Given the description of an element on the screen output the (x, y) to click on. 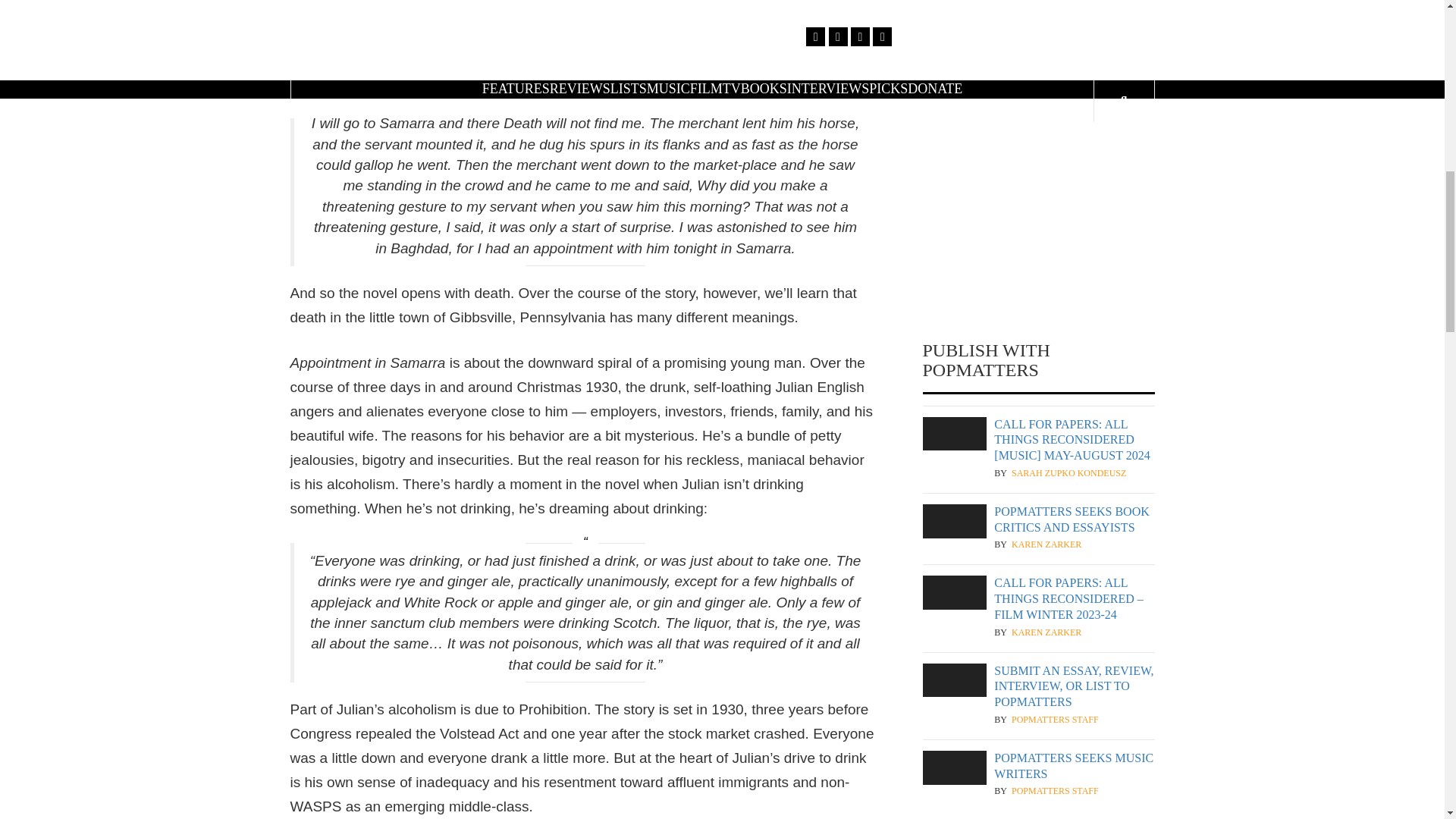
Kurt Wildermuth (1055, 18)
Karen Zarker (1046, 632)
Karen Zarker (1046, 544)
Sal Cataldi (1039, 105)
Sarah Zupko Kondeusz (1068, 472)
PopMatters Staff (1055, 790)
PopMatters Staff (1055, 719)
